Given the description of an element on the screen output the (x, y) to click on. 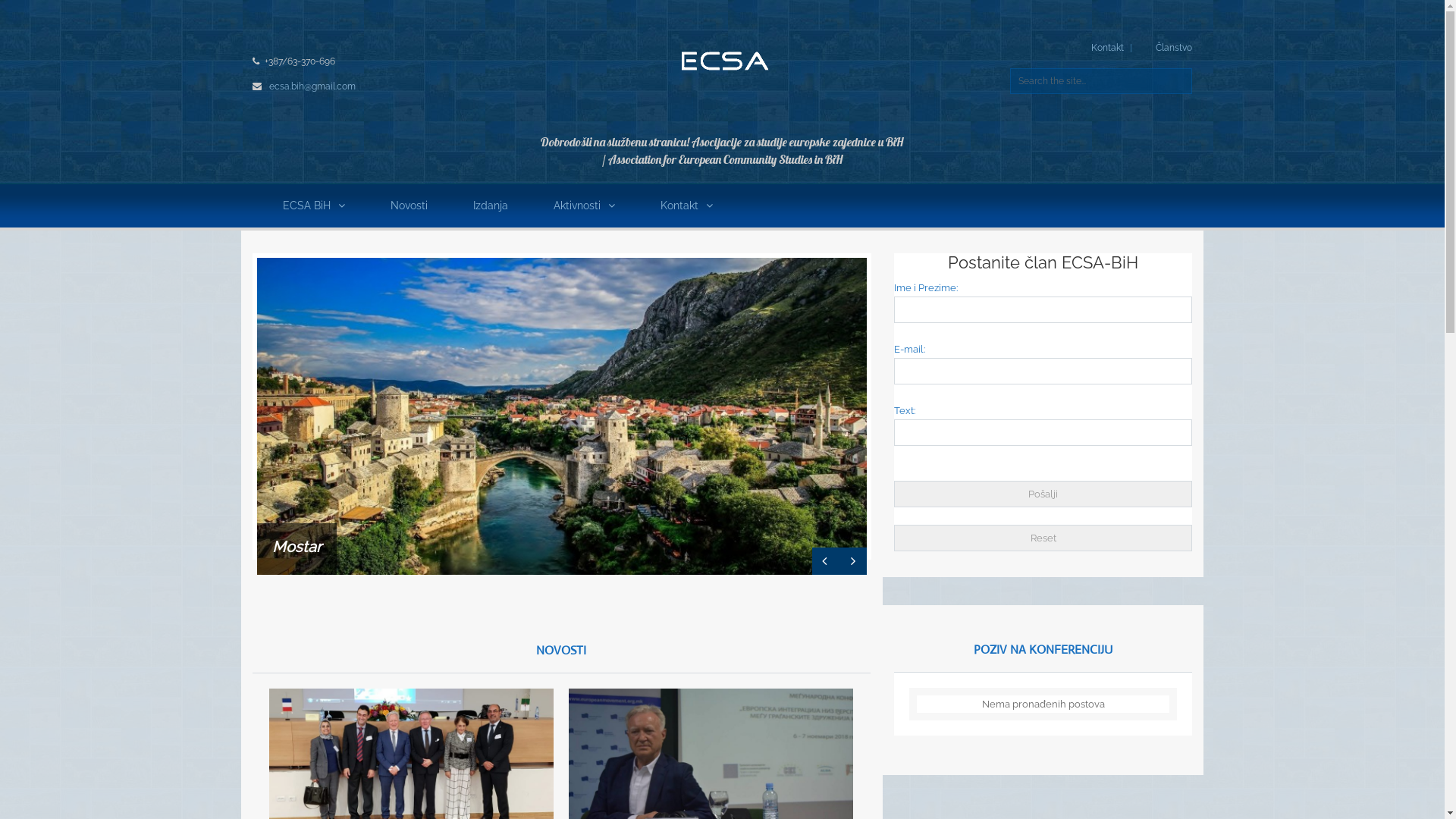
Izdanja Element type: text (490, 205)
Kontakt Element type: text (685, 205)
ecsa.bih@gmail.com Element type: text (311, 86)
  Element type: text (852, 560)
  Element type: text (825, 560)
ECSA BiH Element type: text (312, 205)
Aktivnosti Element type: text (584, 205)
Mostar Element type: text (295, 546)
ECSA BiH Element type: hover (722, 59)
Kontakt Element type: text (1107, 47)
Novosti Element type: text (408, 205)
Search the site... Element type: hover (1101, 81)
